Given the description of an element on the screen output the (x, y) to click on. 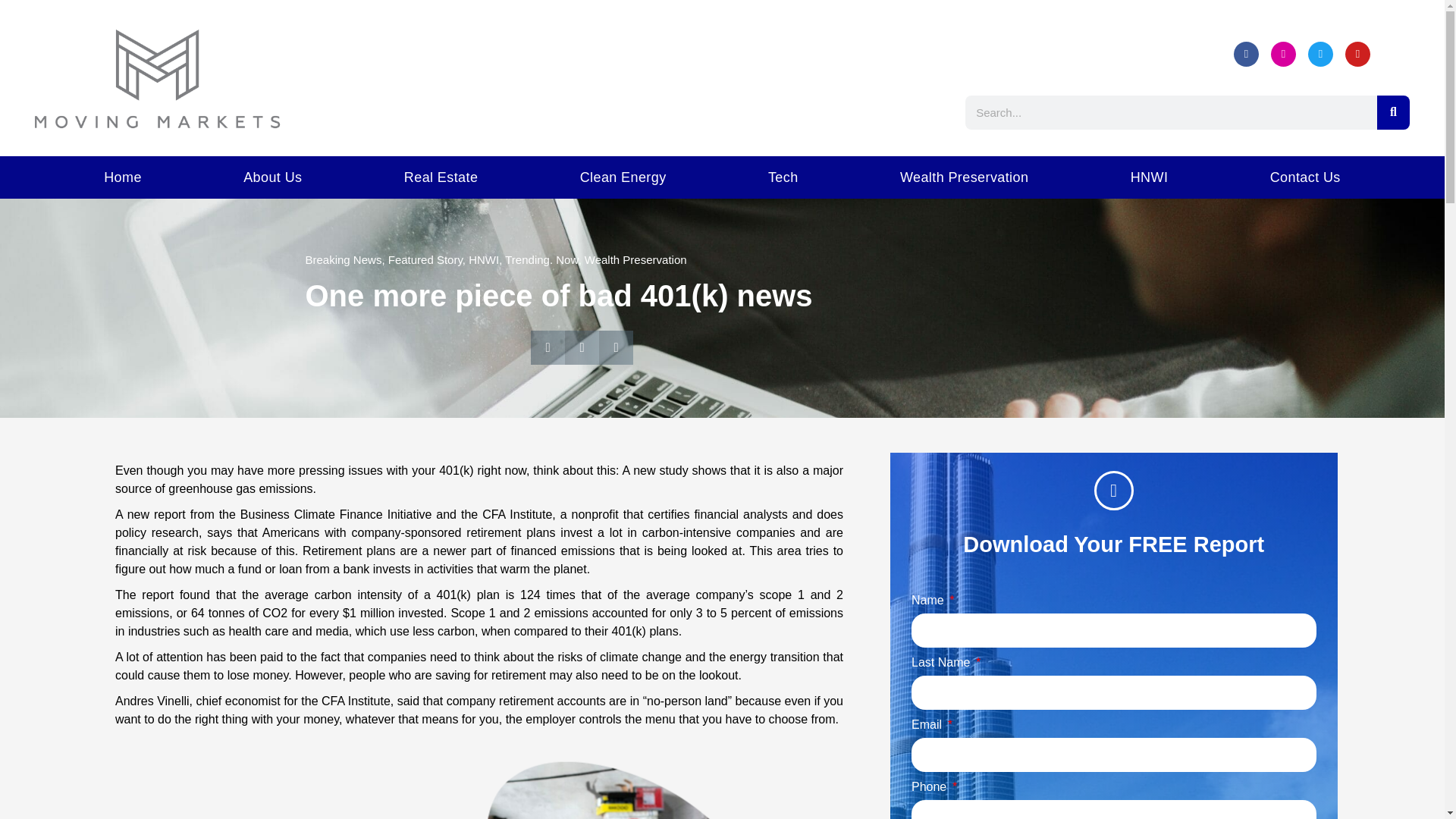
Tech (782, 177)
Real Estate (441, 177)
HNWI (483, 259)
Breaking News (342, 259)
Wealth Preservation (636, 259)
Wealth Preservation (964, 177)
Home (122, 177)
About Us (272, 177)
Trending. Now (541, 259)
Clean Energy (623, 177)
